Given the description of an element on the screen output the (x, y) to click on. 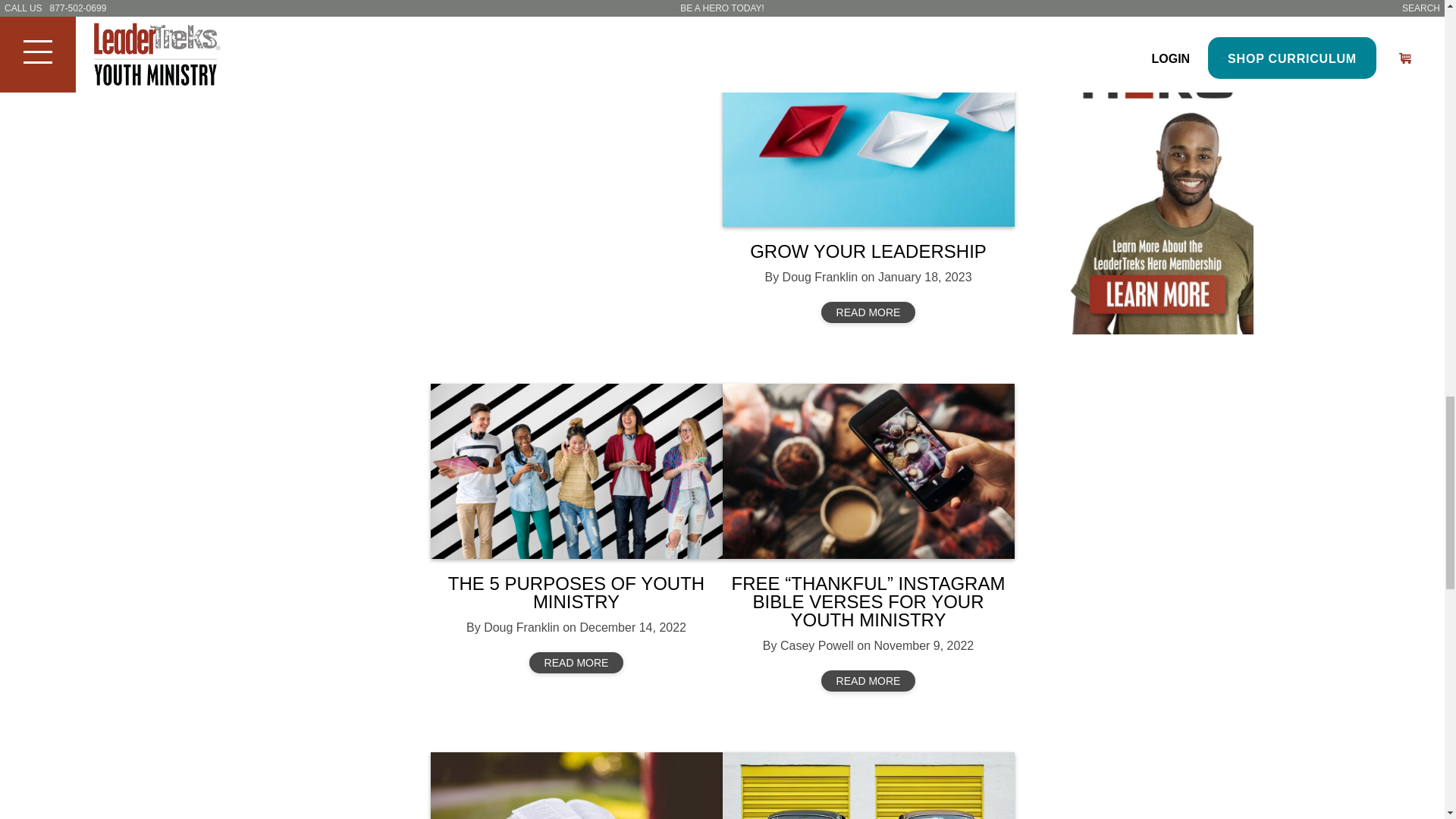
Nothing Compares To You (867, 785)
READ MORE (868, 680)
The 5 Purposes of Youth Ministry (576, 471)
GROW YOUR LEADERSHIP (867, 138)
GROW YOUR LEADERSHIP (868, 250)
THE 5 PURPOSES OF YOUTH MINISTRY (576, 592)
READ MORE (868, 312)
READ MORE (565, 4)
What is Spiritual Maturity? (576, 785)
READ MORE (576, 662)
